Given the description of an element on the screen output the (x, y) to click on. 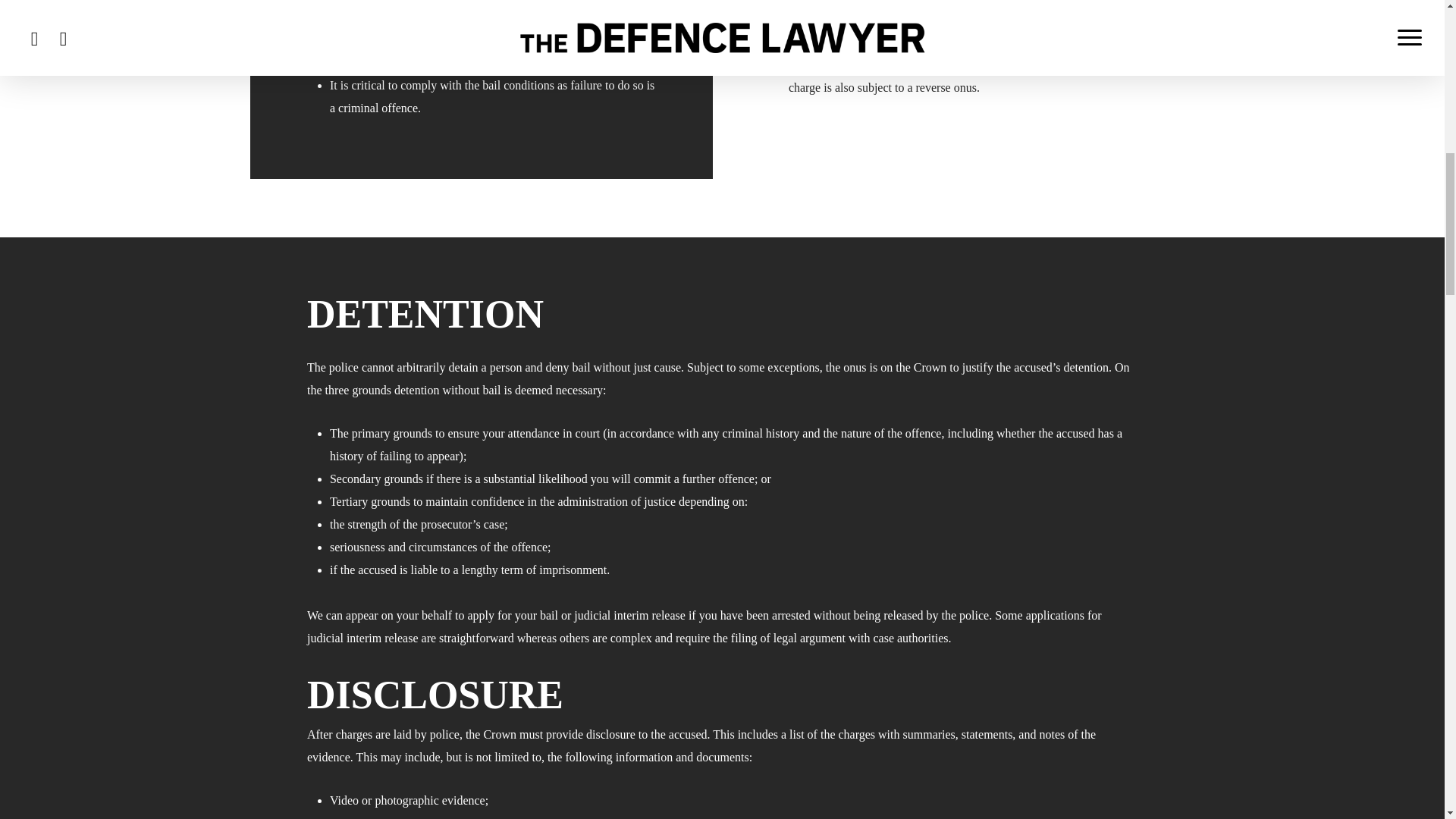
narcotics or drug charges (953, 19)
